Given the description of an element on the screen output the (x, y) to click on. 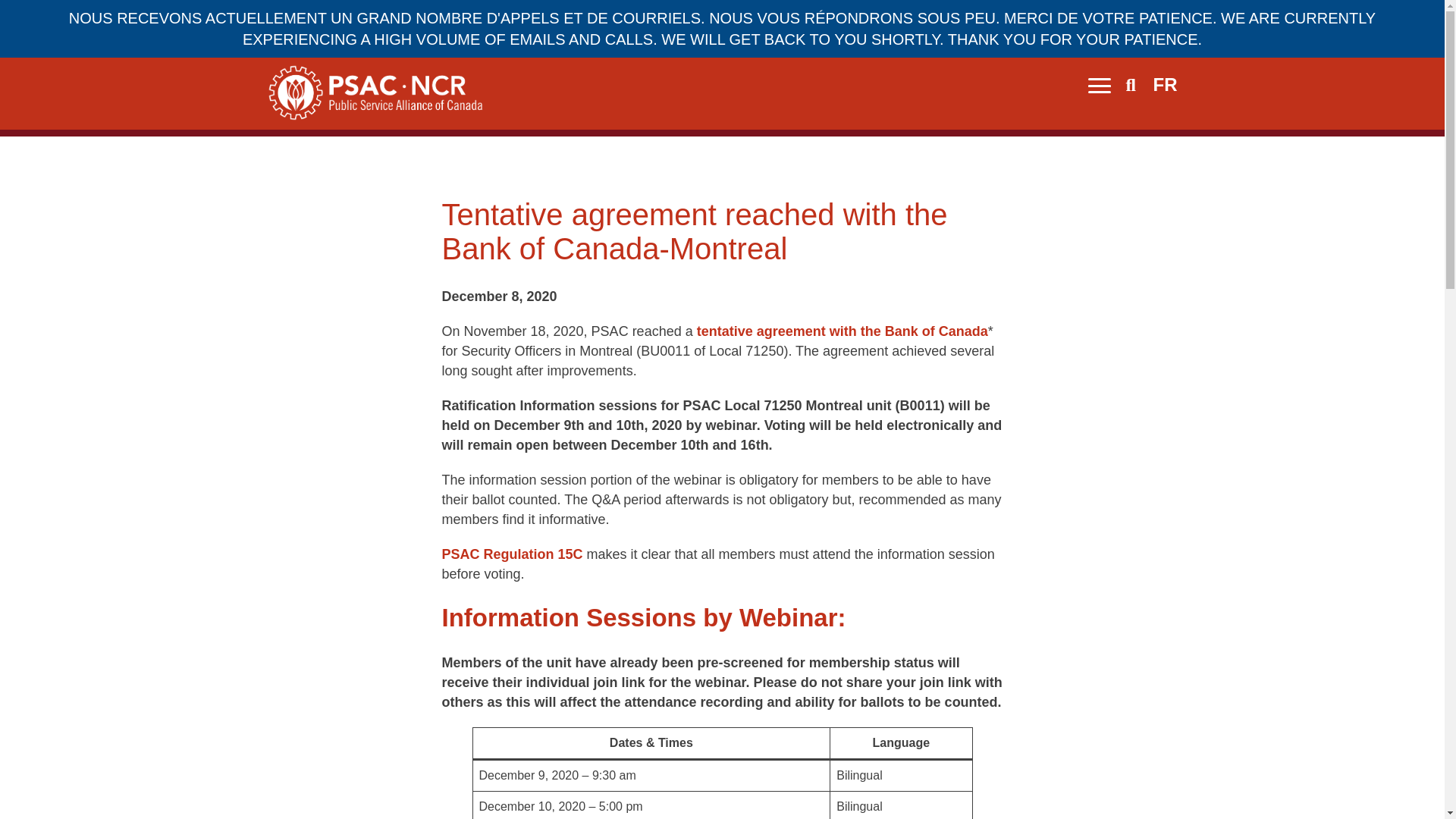
Search (1131, 86)
tentative agreement with the Bank of Canada (842, 331)
FR (1164, 84)
PSAC Regulation 15C (511, 554)
